Given the description of an element on the screen output the (x, y) to click on. 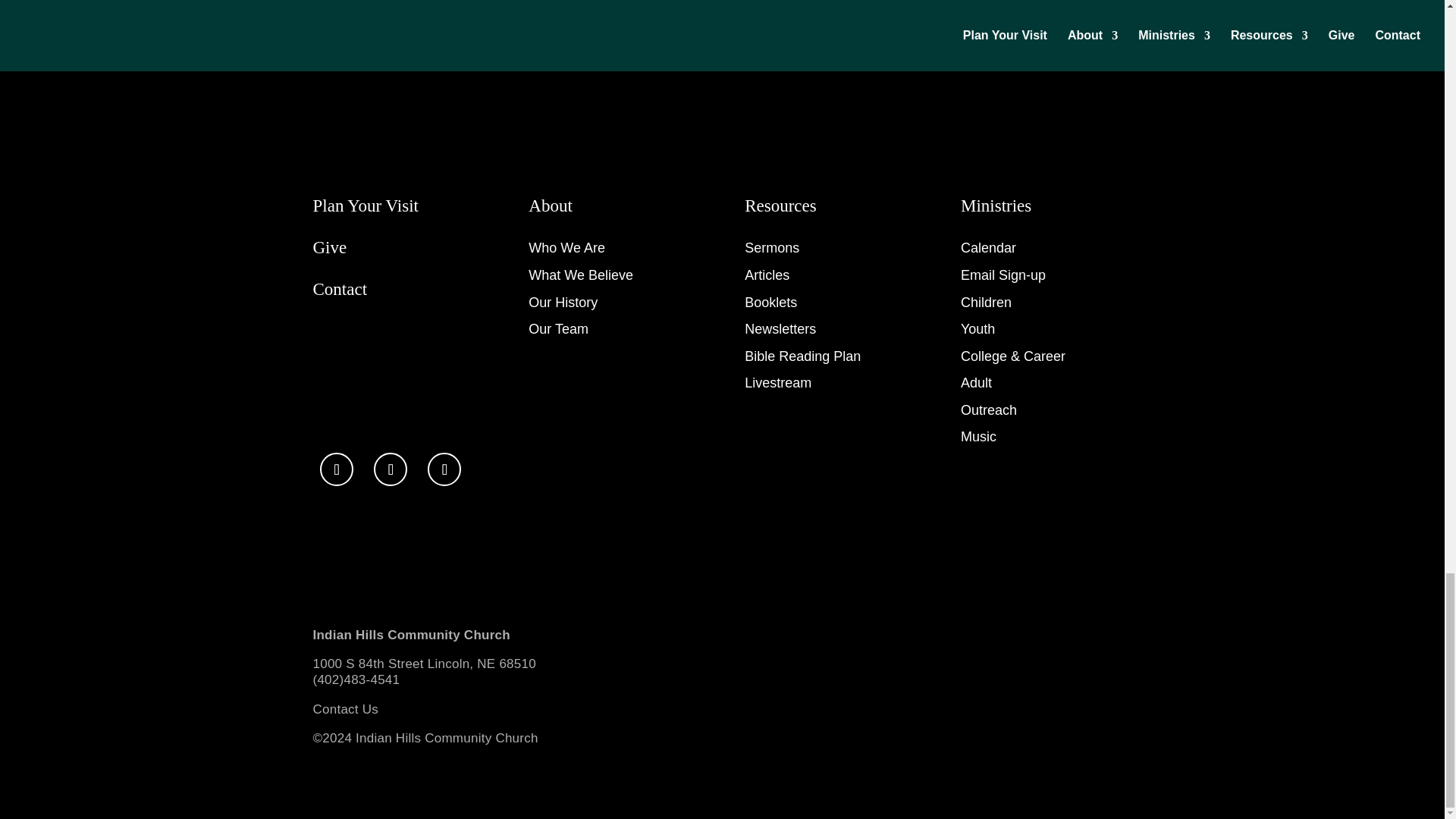
ihcc-logo-white1 (369, 113)
google-play-logo-button (363, 582)
Follow on Facebook (336, 469)
app-store-logo-button (358, 530)
Follow on Instagram (390, 469)
Follow on Youtube (444, 469)
